Given the description of an element on the screen output the (x, y) to click on. 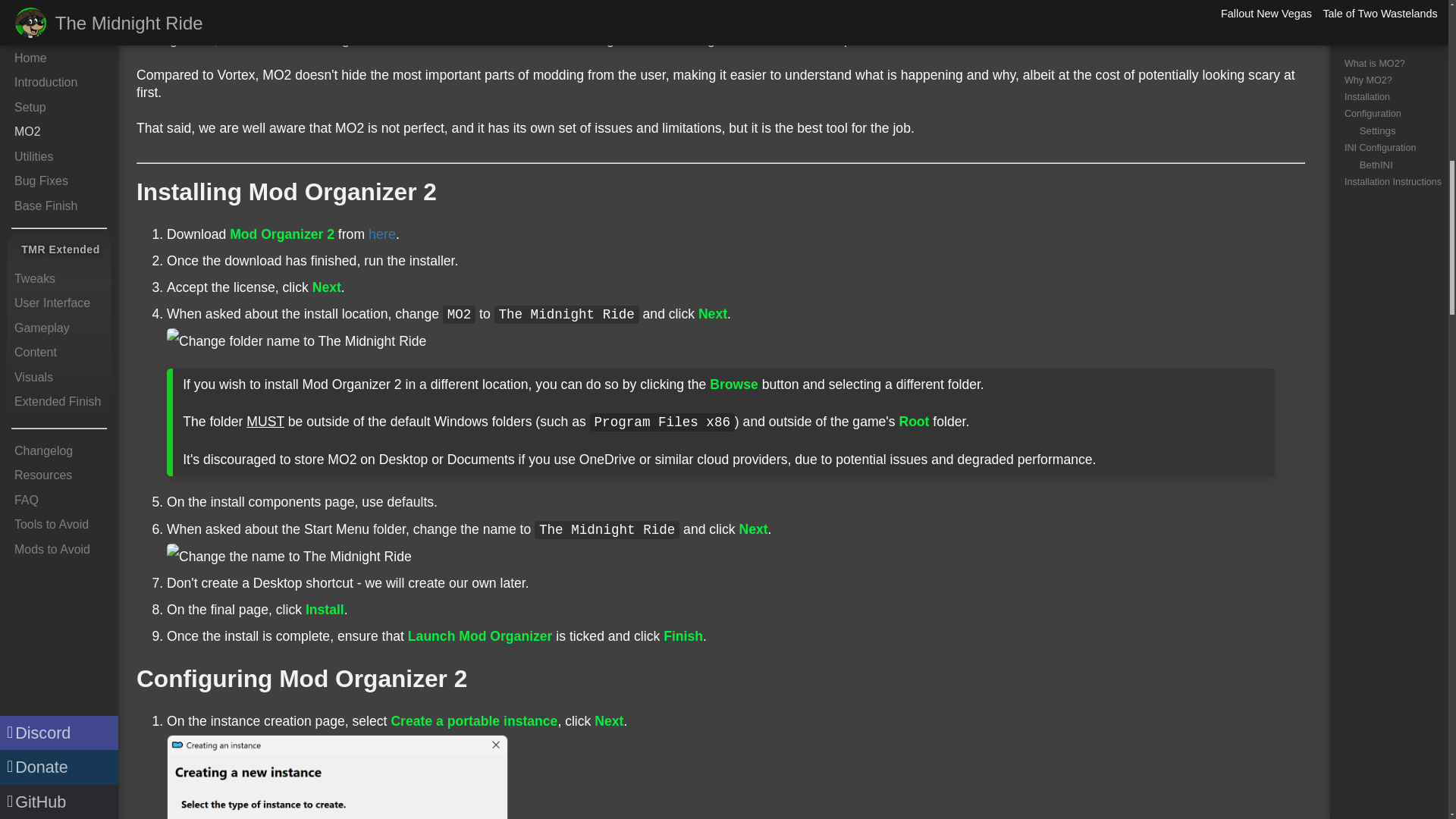
Configuring Mod Organizer 2 (301, 678)
here (382, 233)
Installing Mod Organizer 2 (286, 191)
GitHub (58, 0)
